Given the description of an element on the screen output the (x, y) to click on. 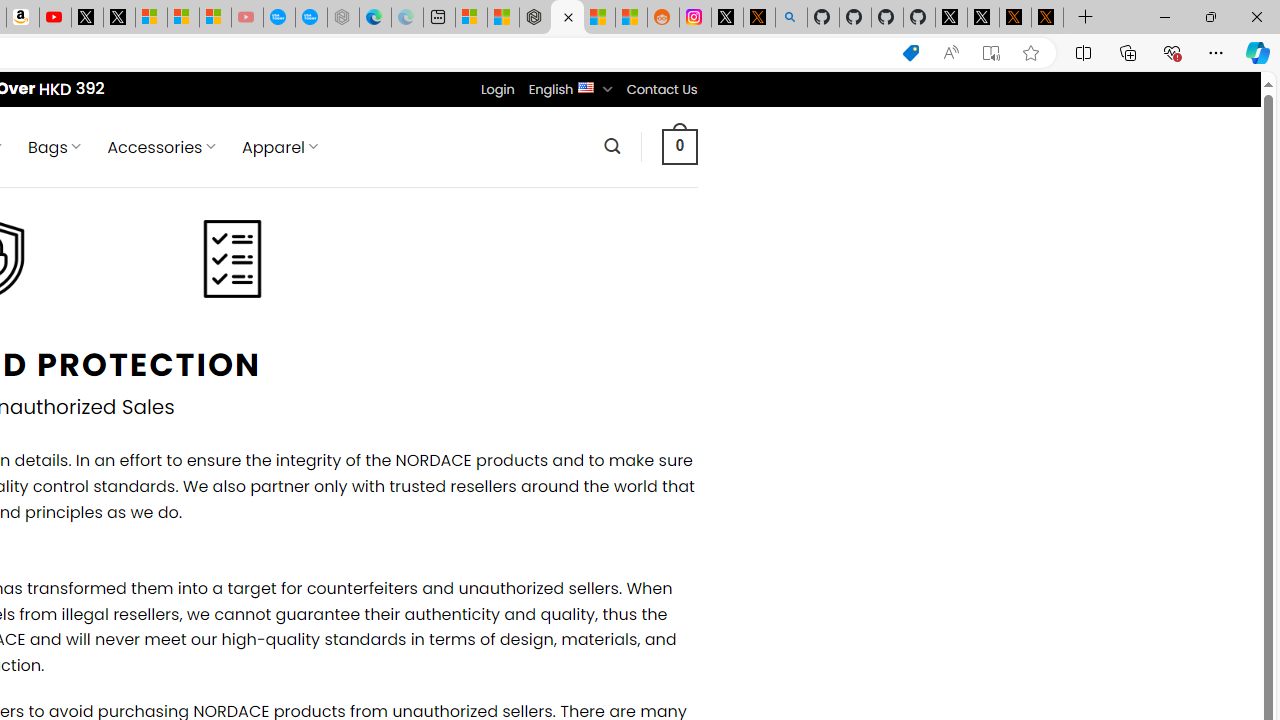
Login (497, 89)
Login (497, 89)
Gloom - YouTube - Sleeping (246, 17)
Nordace - Counterfeits and Unauthorized Sales (566, 17)
English (586, 86)
